Given the description of an element on the screen output the (x, y) to click on. 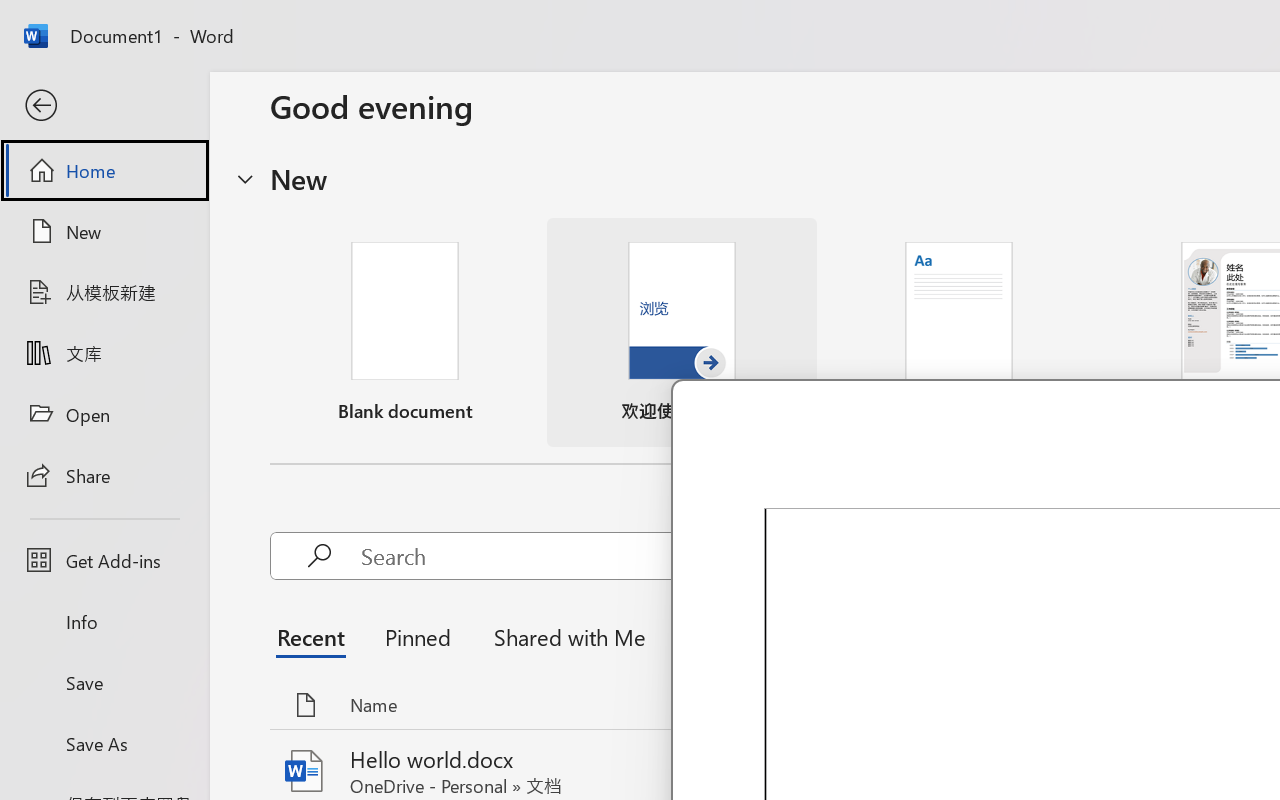
New (104, 231)
Hide or show region (245, 178)
